Given the description of an element on the screen output the (x, y) to click on. 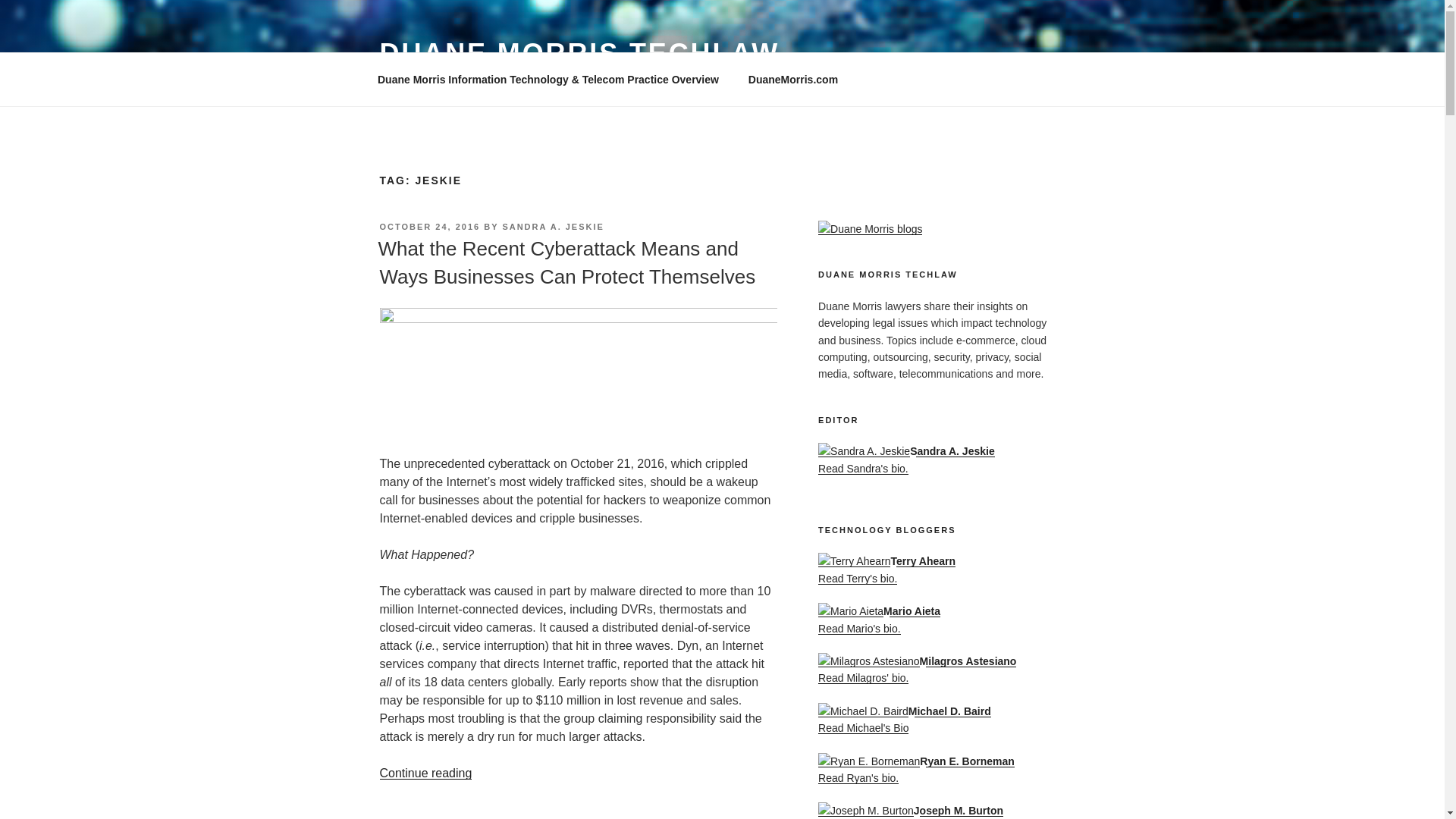
DUANE MORRIS TECHLAW (578, 52)
Practice overview on DuaneMorris.com (548, 78)
SANDRA A. JESKIE (553, 225)
OCTOBER 24, 2016 (429, 225)
Duane Morris LLP firm website (792, 78)
DuaneMorris.com (792, 78)
